Given the description of an element on the screen output the (x, y) to click on. 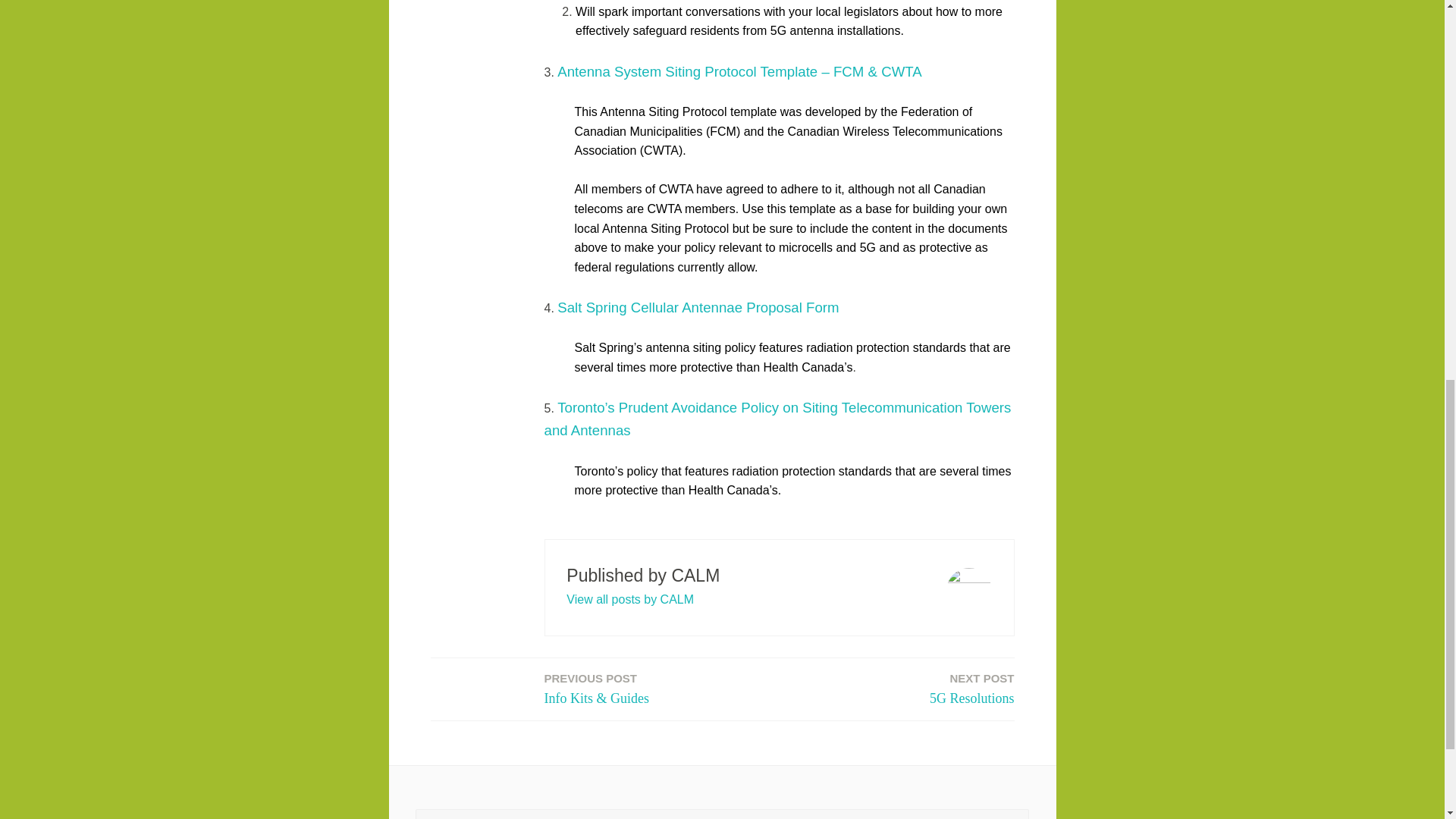
View all posts by CALM (972, 689)
Salt Spring Cellular Antennae Proposal Form (630, 599)
